Given the description of an element on the screen output the (x, y) to click on. 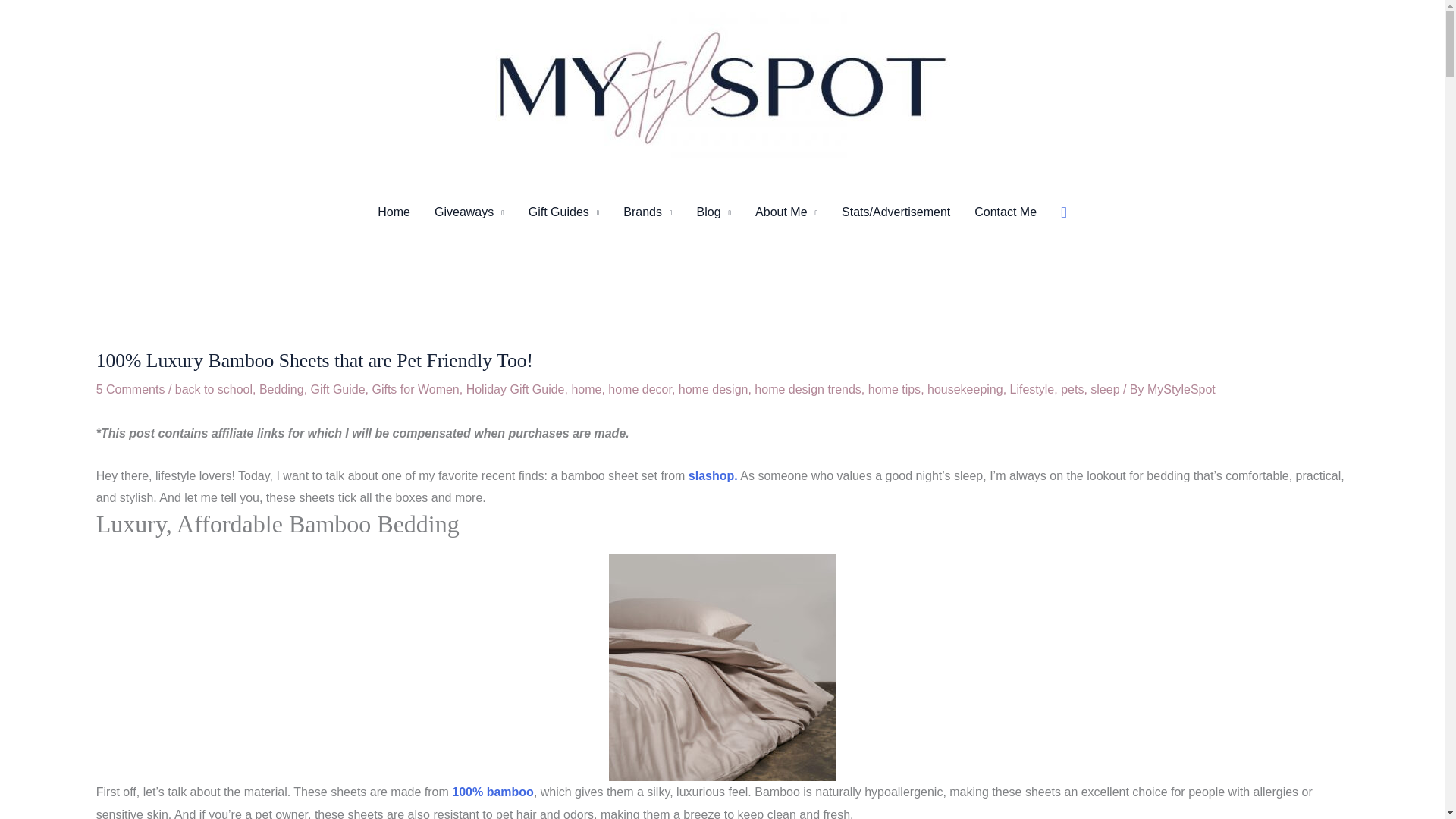
Giveaways (469, 212)
Gift Guide (338, 389)
5 Comments (130, 389)
pets (1072, 389)
home design trends (807, 389)
View all posts by MyStyleSpot (1181, 389)
Home (393, 212)
home design (713, 389)
About Me (785, 212)
home decor (639, 389)
